Given the description of an element on the screen output the (x, y) to click on. 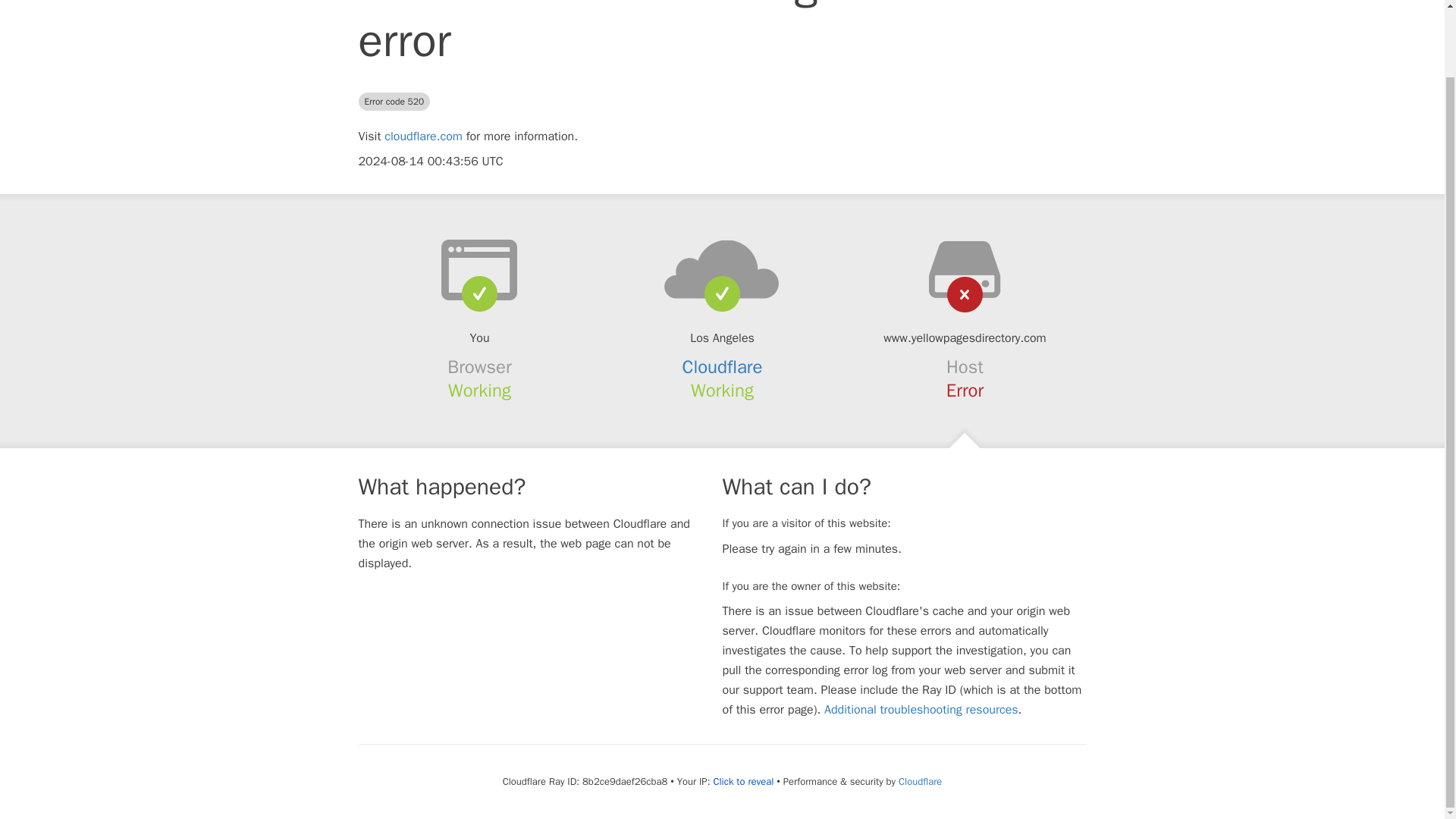
Cloudflare (722, 366)
Cloudflare (920, 780)
cloudflare.com (423, 136)
Click to reveal (743, 781)
Additional troubleshooting resources (920, 709)
